Given the description of an element on the screen output the (x, y) to click on. 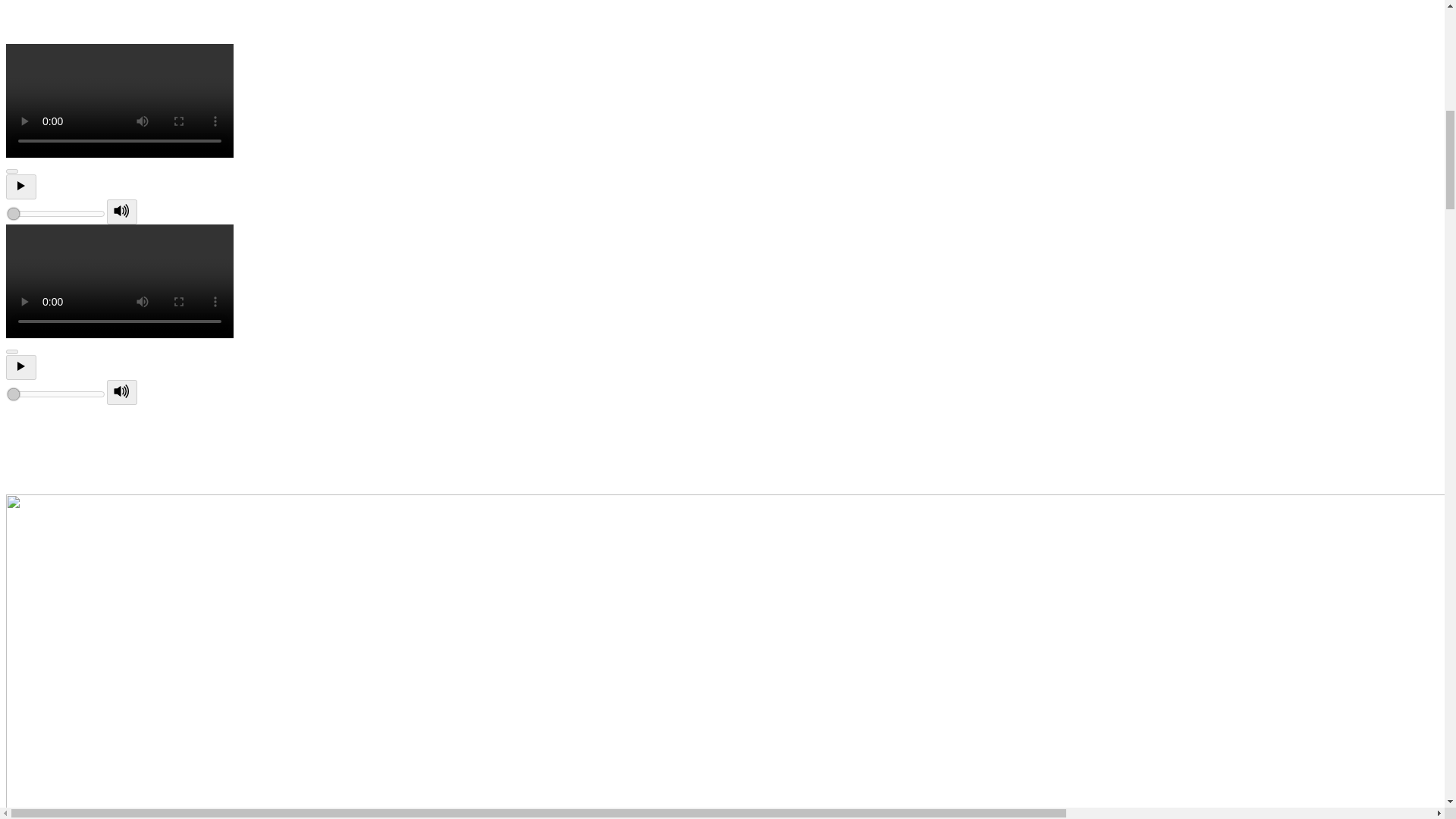
0 (55, 394)
0 (55, 214)
